Given the description of an element on the screen output the (x, y) to click on. 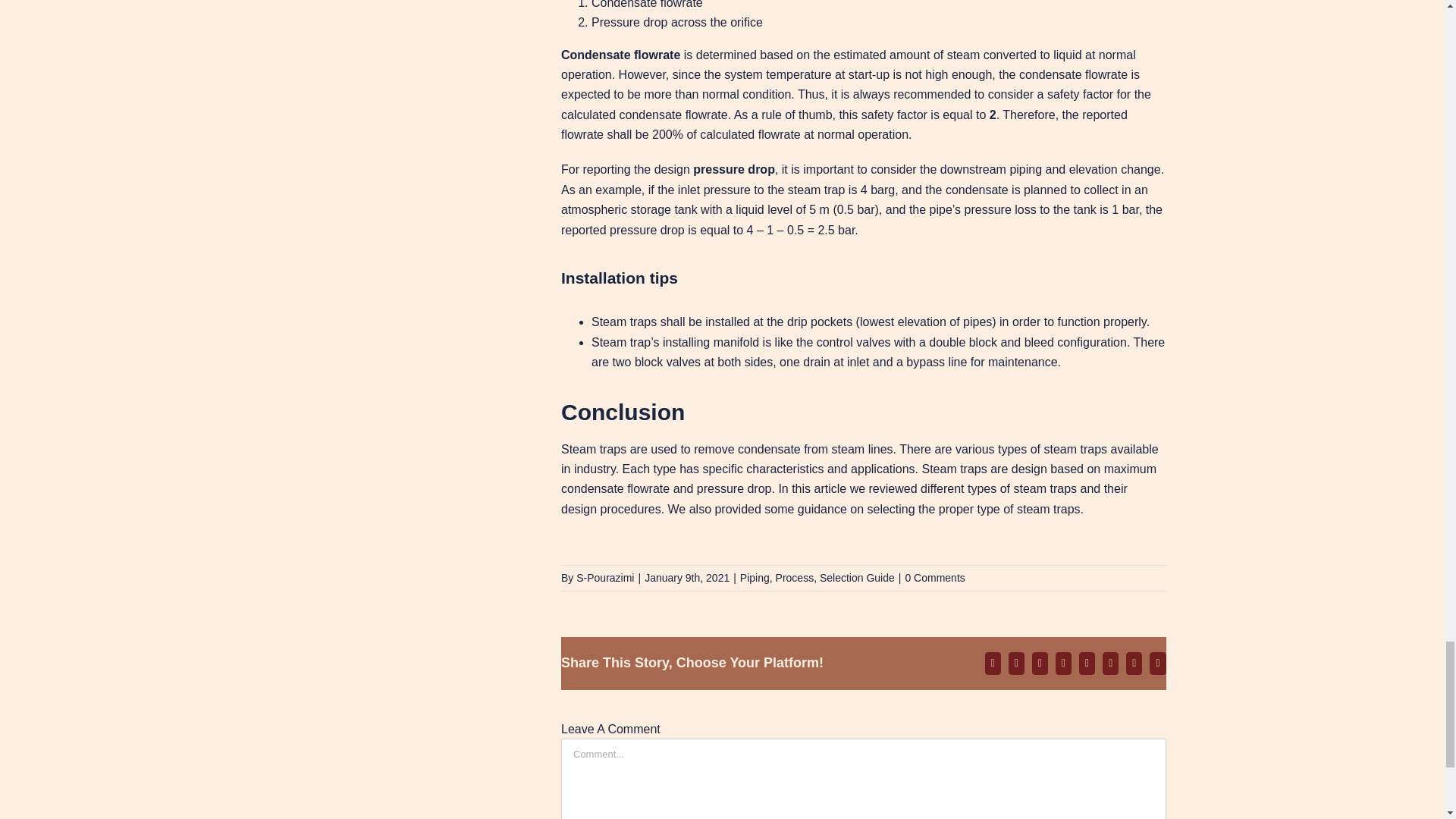
Process (794, 577)
Posts by S-Pourazimi (604, 577)
S-Pourazimi (604, 577)
0 Comments (933, 577)
Piping (754, 577)
Selection Guide (857, 577)
